Given the description of an element on the screen output the (x, y) to click on. 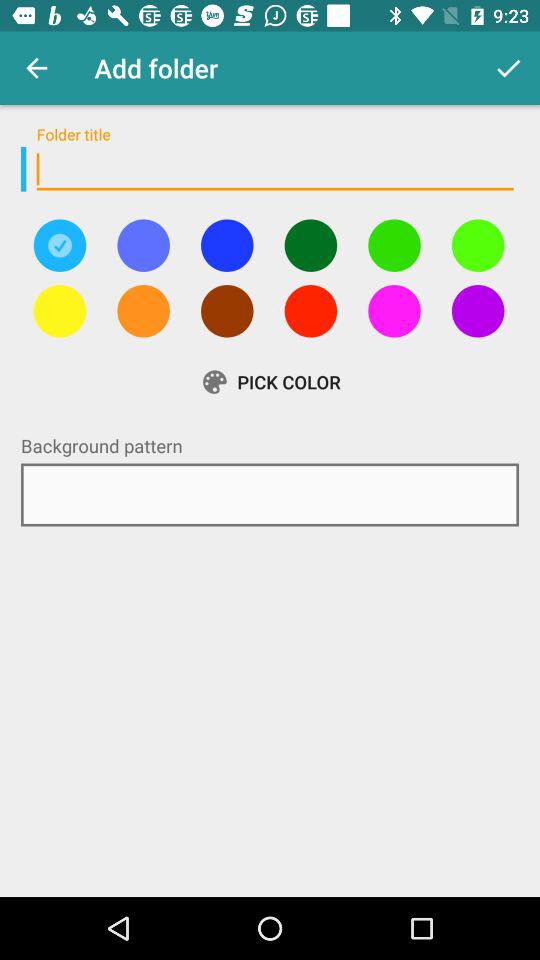
pick green color (310, 245)
